Given the description of an element on the screen output the (x, y) to click on. 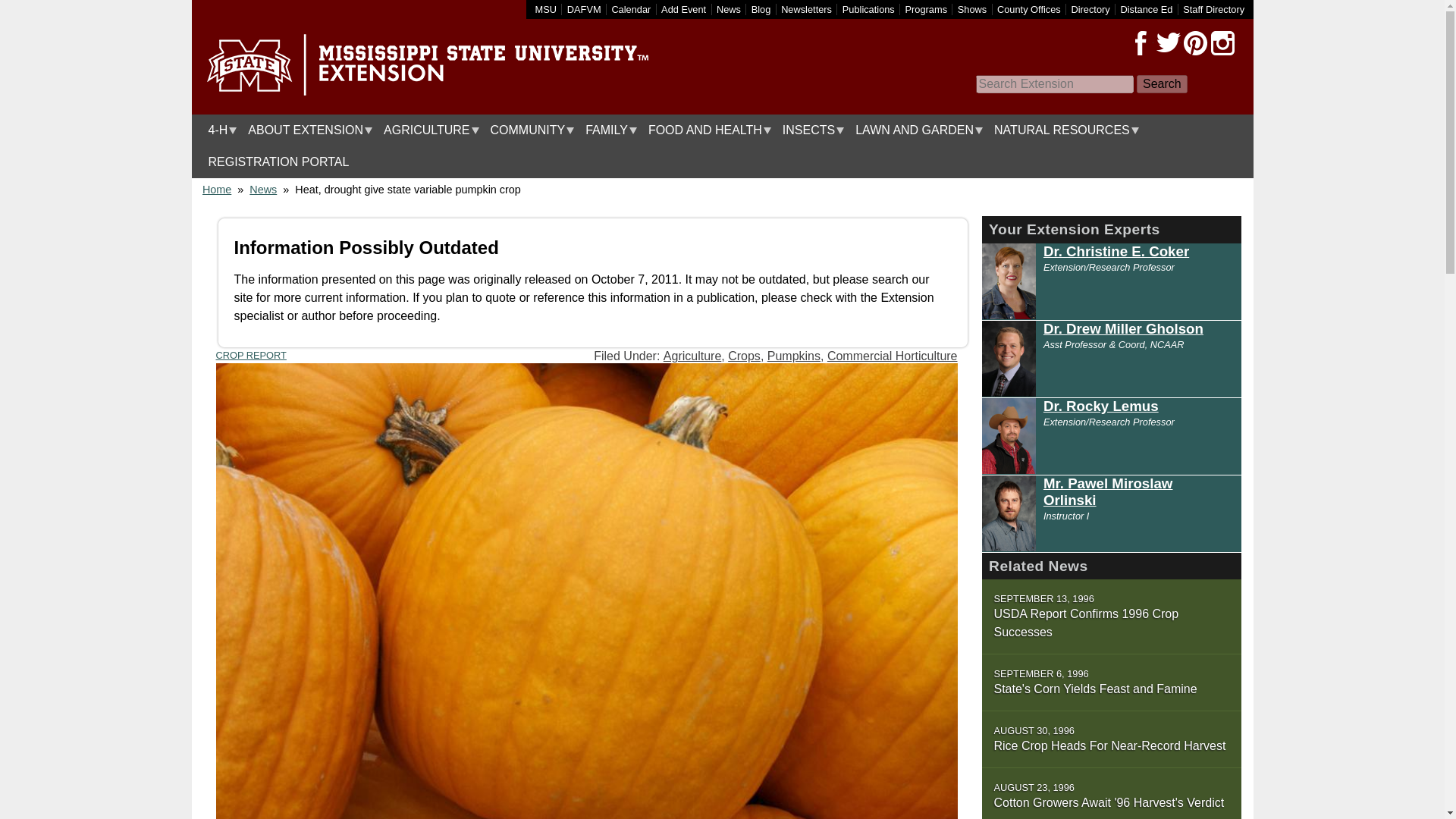
Find a county extension office (1029, 9)
Pinterest (1194, 43)
County Offices (1029, 9)
Staff Directory (1213, 9)
Distance Ed (1145, 9)
Twitter (1167, 43)
Instagram (1221, 43)
